Given the description of an element on the screen output the (x, y) to click on. 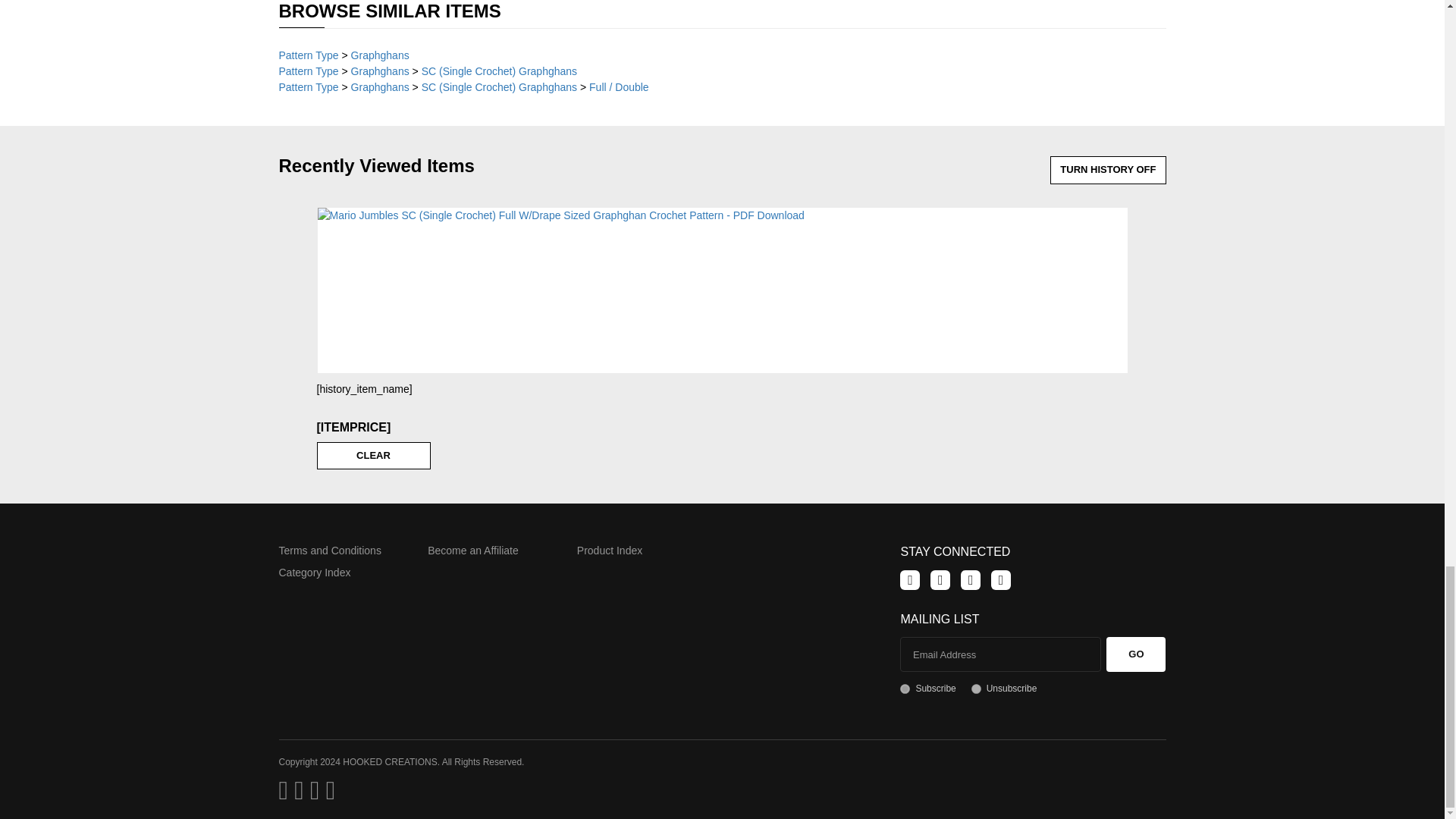
Follow Us on Pinterest (969, 579)
Follow Us on Twitter (940, 579)
0 (976, 688)
Follow Us on Instagram (1000, 579)
1 (904, 688)
Like Us on Facebook (909, 579)
